Given the description of an element on the screen output the (x, y) to click on. 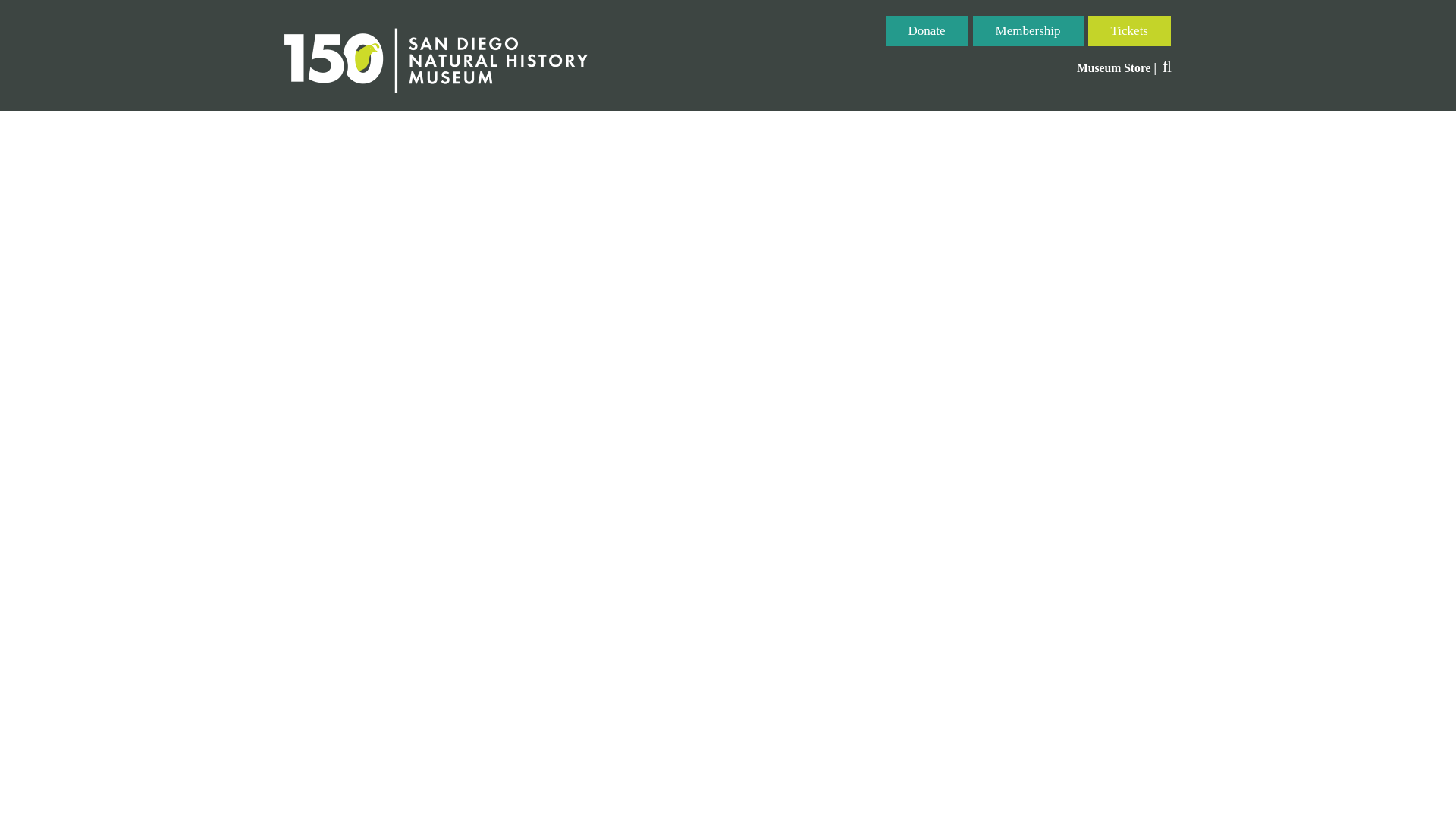
Tickets (1129, 30)
Membership (1028, 30)
Donate (927, 30)
Museum Store (1114, 67)
